Given the description of an element on the screen output the (x, y) to click on. 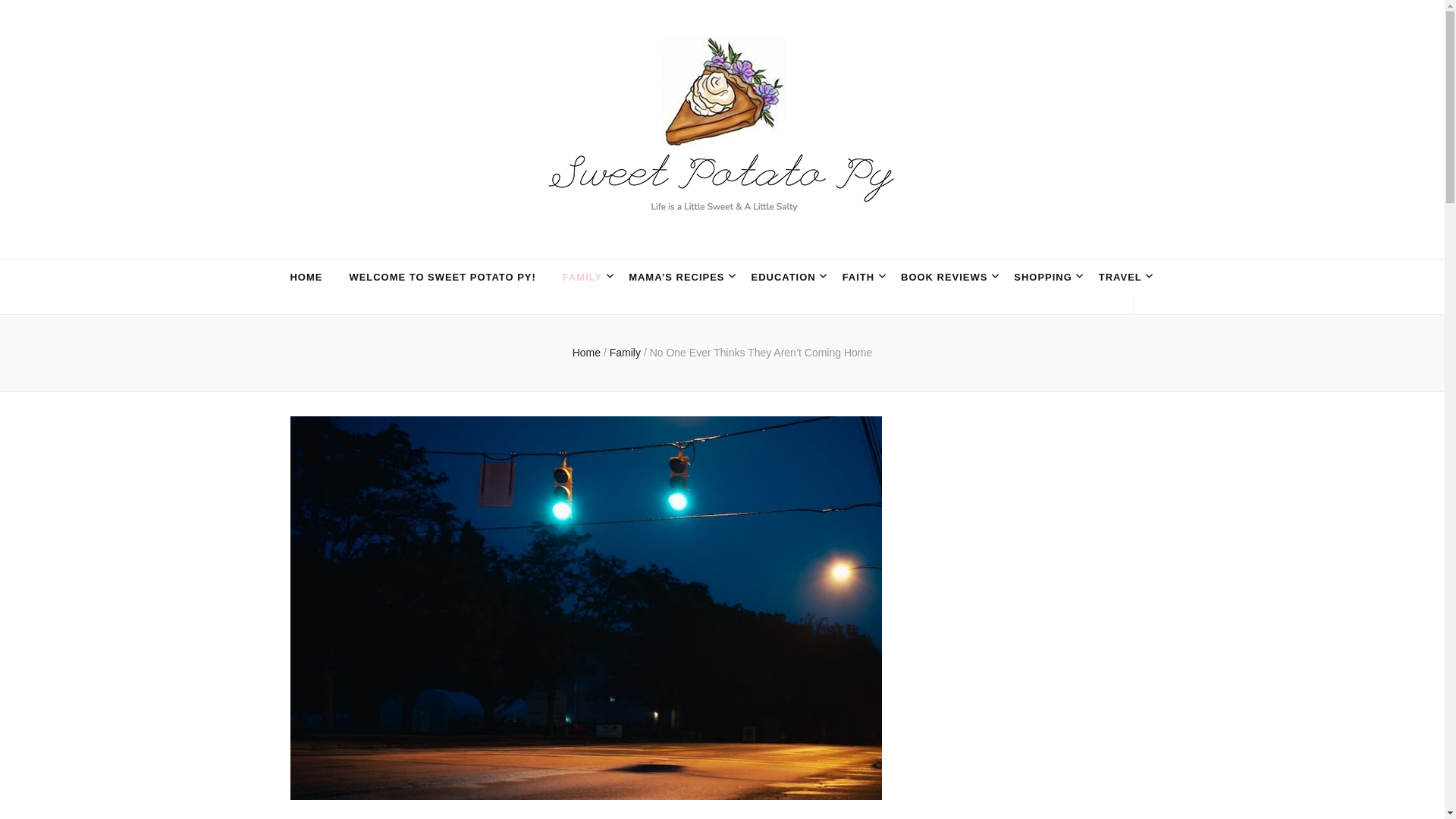
Sweet Potato Py (440, 245)
FAMILY (582, 277)
WELCOME TO SWEET POTATO PY! (442, 277)
HOME (305, 277)
